Given the description of an element on the screen output the (x, y) to click on. 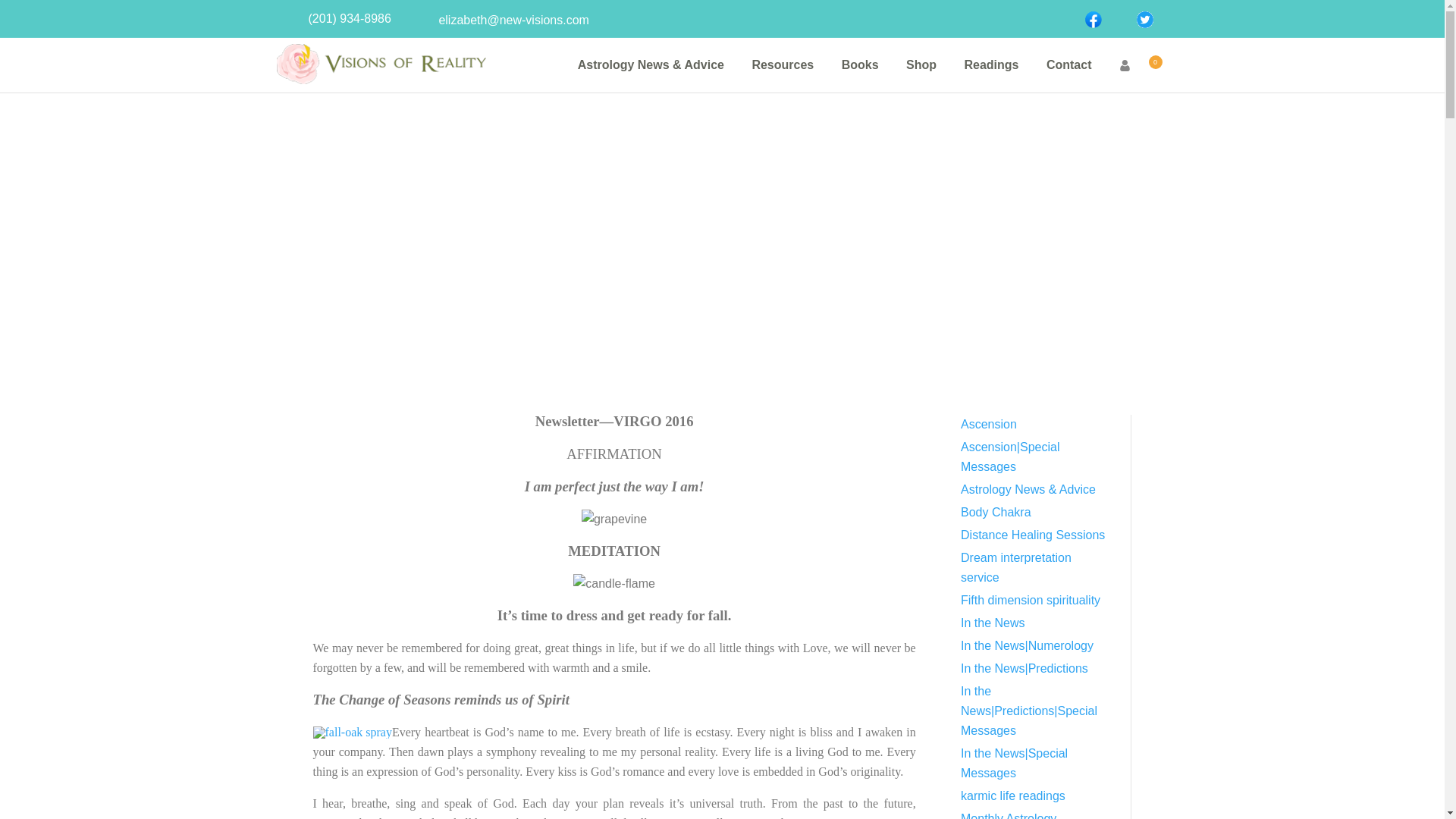
Ascension (988, 427)
Resources (782, 64)
In the News (992, 626)
Dream interpretation service (1015, 571)
Distance Healing Sessions (1032, 538)
Body Chakra (995, 516)
Readings (990, 64)
Monthly Astrology (762, 219)
Fifth dimension spirituality (1030, 603)
